Given the description of an element on the screen output the (x, y) to click on. 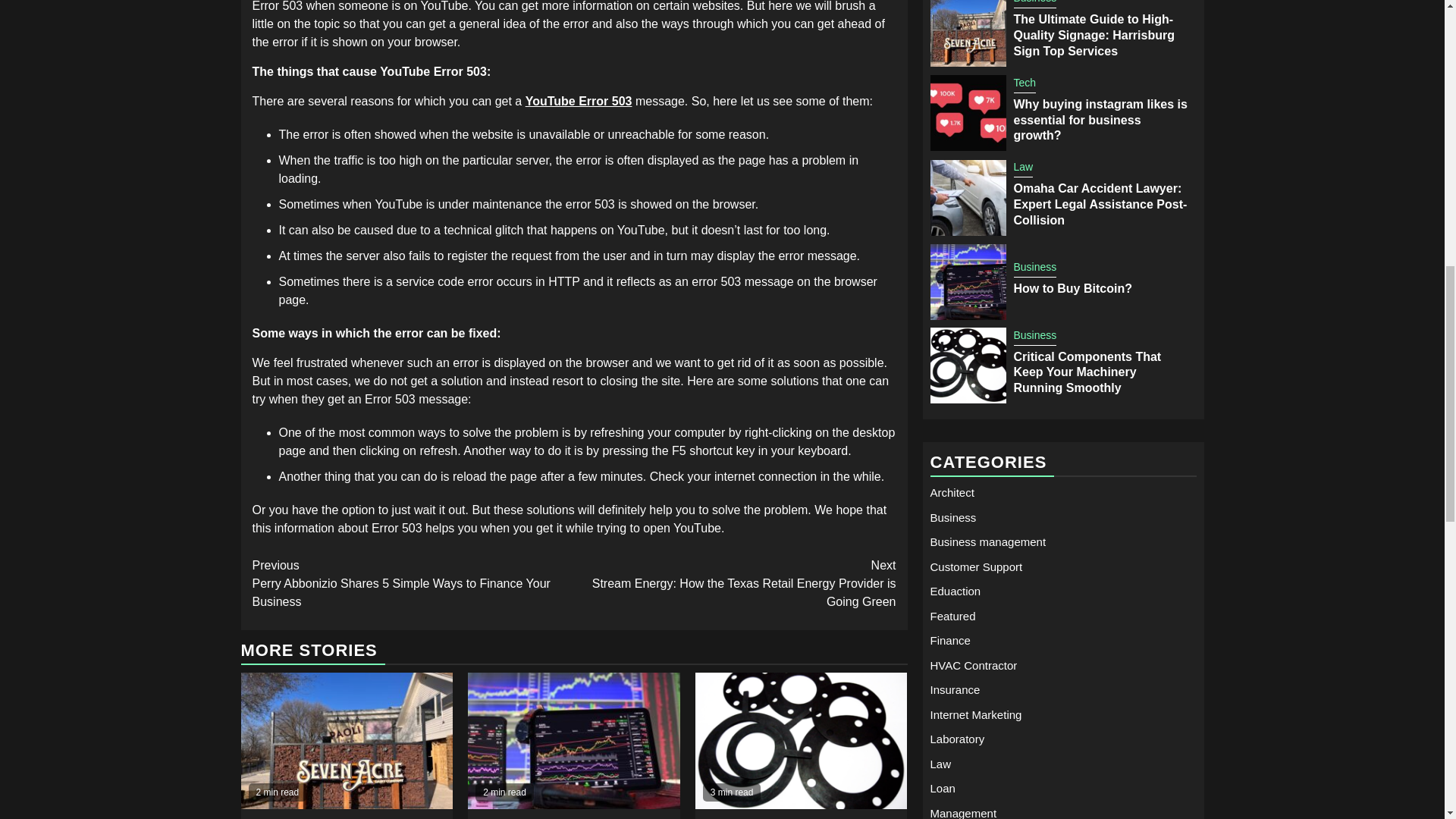
YouTube Error 503 (578, 101)
